Given the description of an element on the screen output the (x, y) to click on. 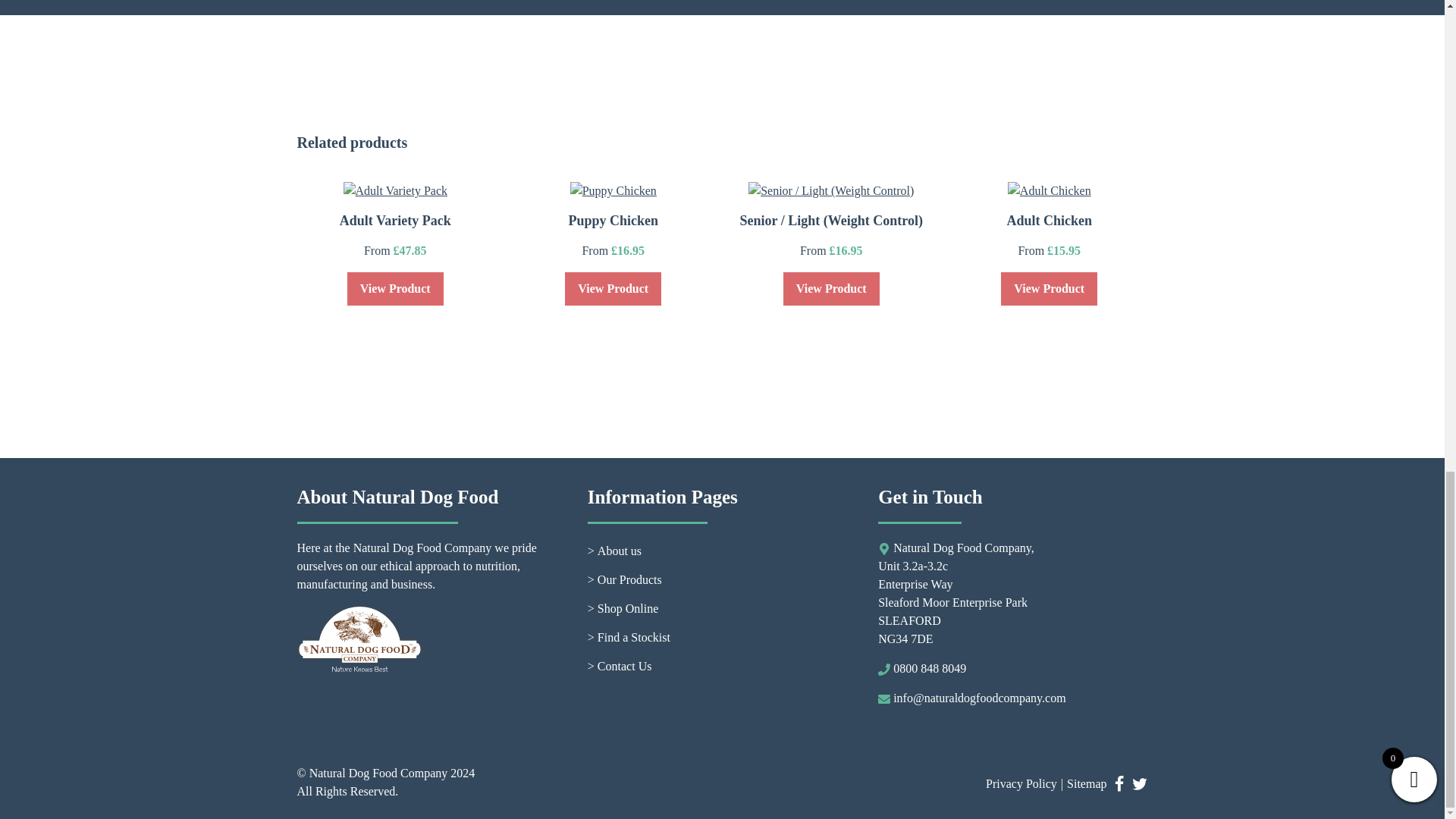
View Product (831, 288)
View Product (612, 288)
View Product (395, 288)
